Given the description of an element on the screen output the (x, y) to click on. 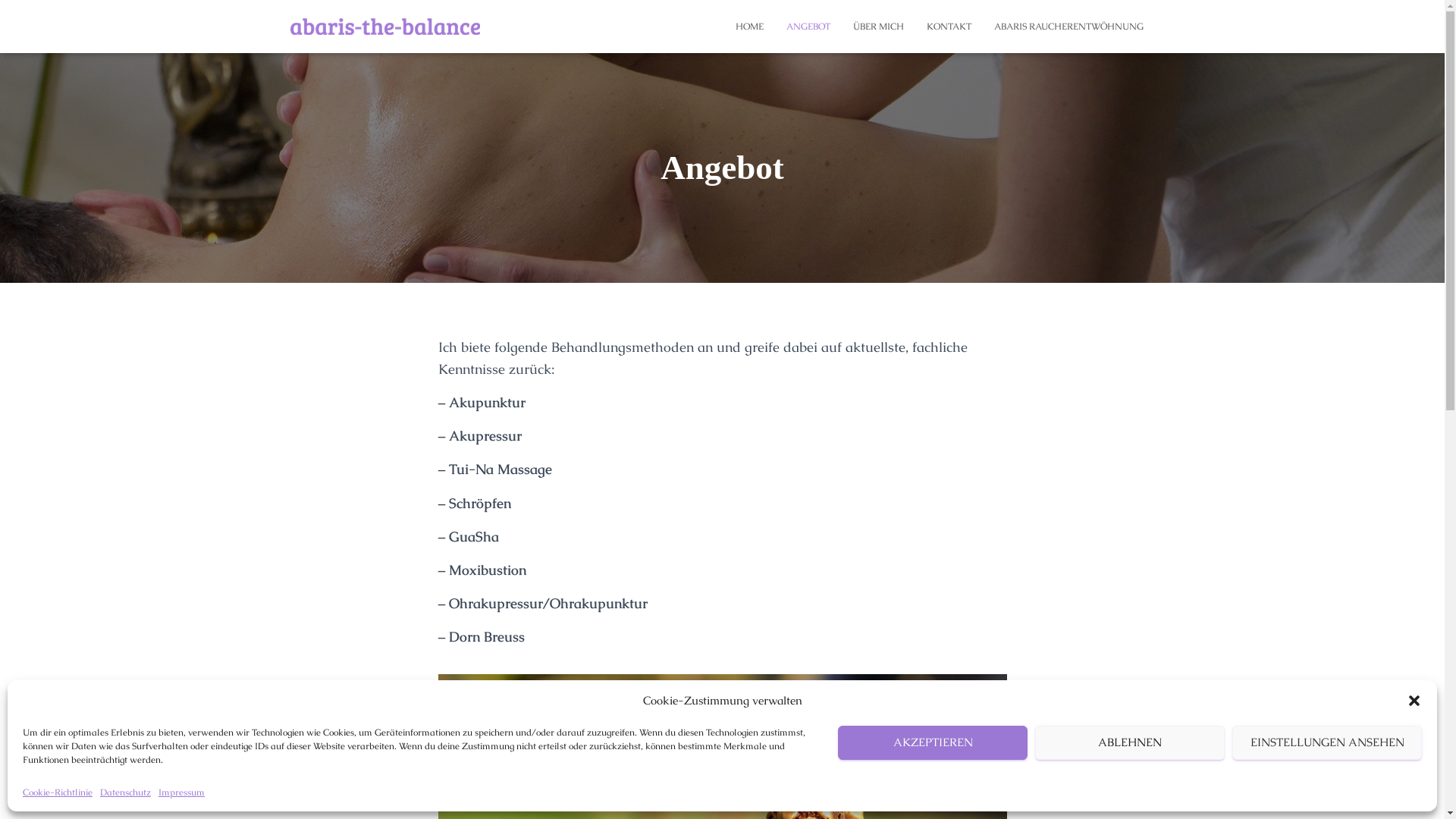
HOME Element type: text (748, 26)
ANGEBOT Element type: text (808, 26)
Cookie-Richtlinie Element type: text (57, 792)
AKZEPTIEREN Element type: text (932, 742)
ABLEHNEN Element type: text (1129, 742)
KONTAKT Element type: text (948, 26)
EINSTELLUNGEN ANSEHEN Element type: text (1326, 742)
abaris-the-balance Element type: hover (385, 26)
Datenschutz Element type: text (125, 792)
Impressum Element type: text (181, 792)
